Given the description of an element on the screen output the (x, y) to click on. 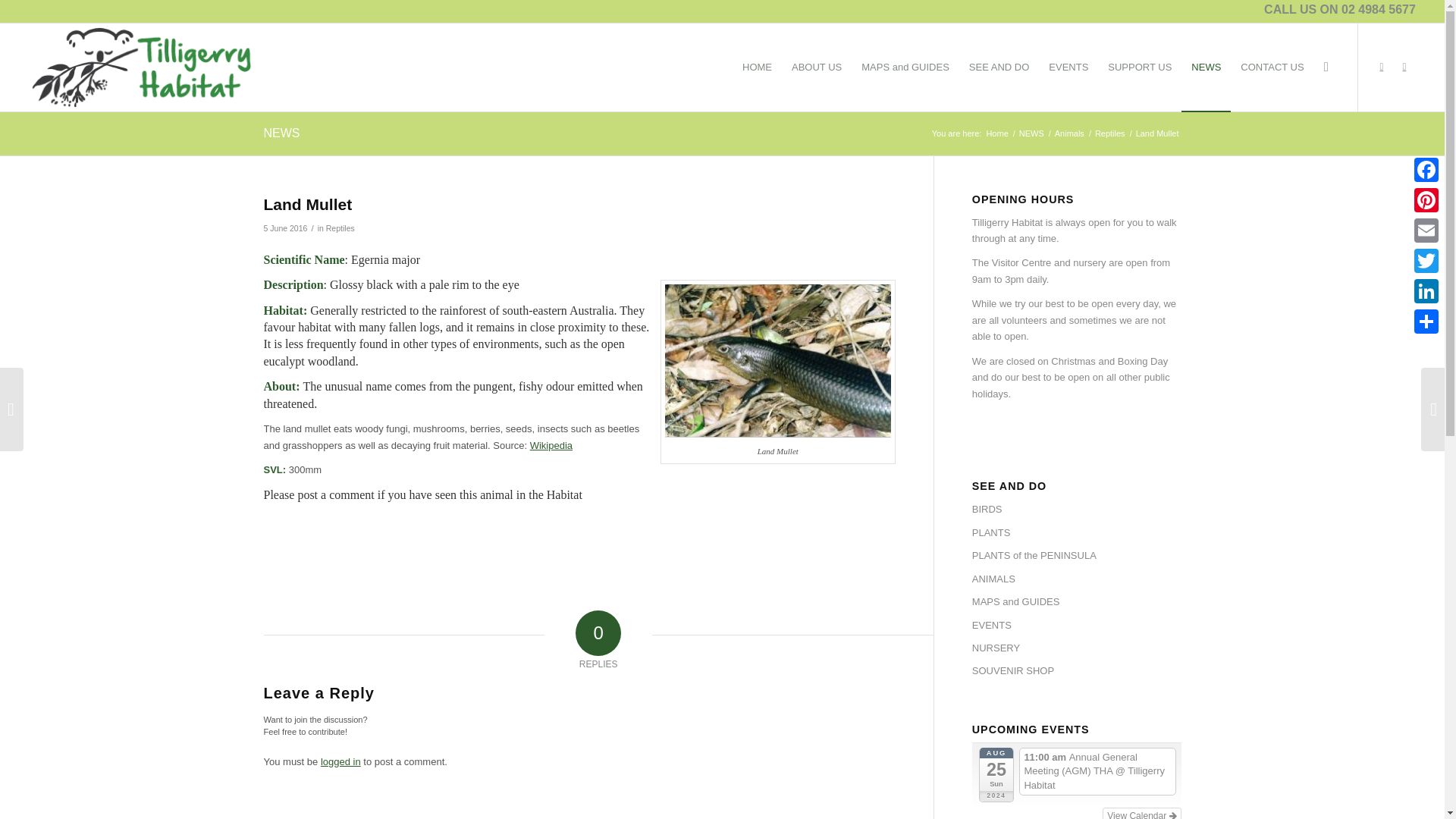
Tilligerry Habitat Reserve (997, 133)
Facebook (1425, 169)
logged in (340, 761)
Home (997, 133)
BIRDS (1076, 508)
PLANTS of the PENINSULA (1076, 555)
HOME (756, 67)
tilligerry-habitat-logo-bybo-final-307px-118px (143, 67)
NEWS (1031, 133)
Pinterest (1425, 200)
EVENTS (1068, 67)
SEE AND DO (999, 67)
Animals (1069, 133)
NEWS (1205, 67)
NEWS (281, 132)
